Given the description of an element on the screen output the (x, y) to click on. 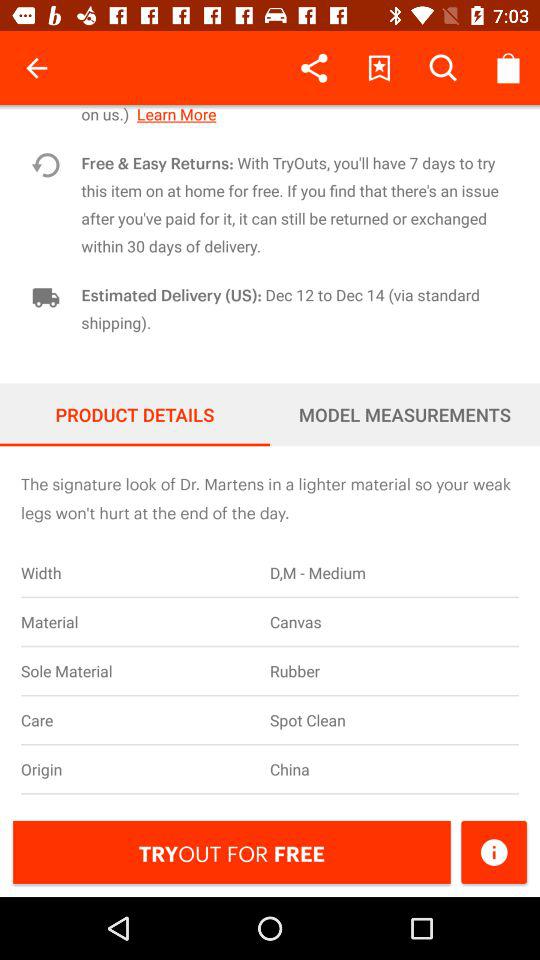
open the icon below china item (493, 851)
